Given the description of an element on the screen output the (x, y) to click on. 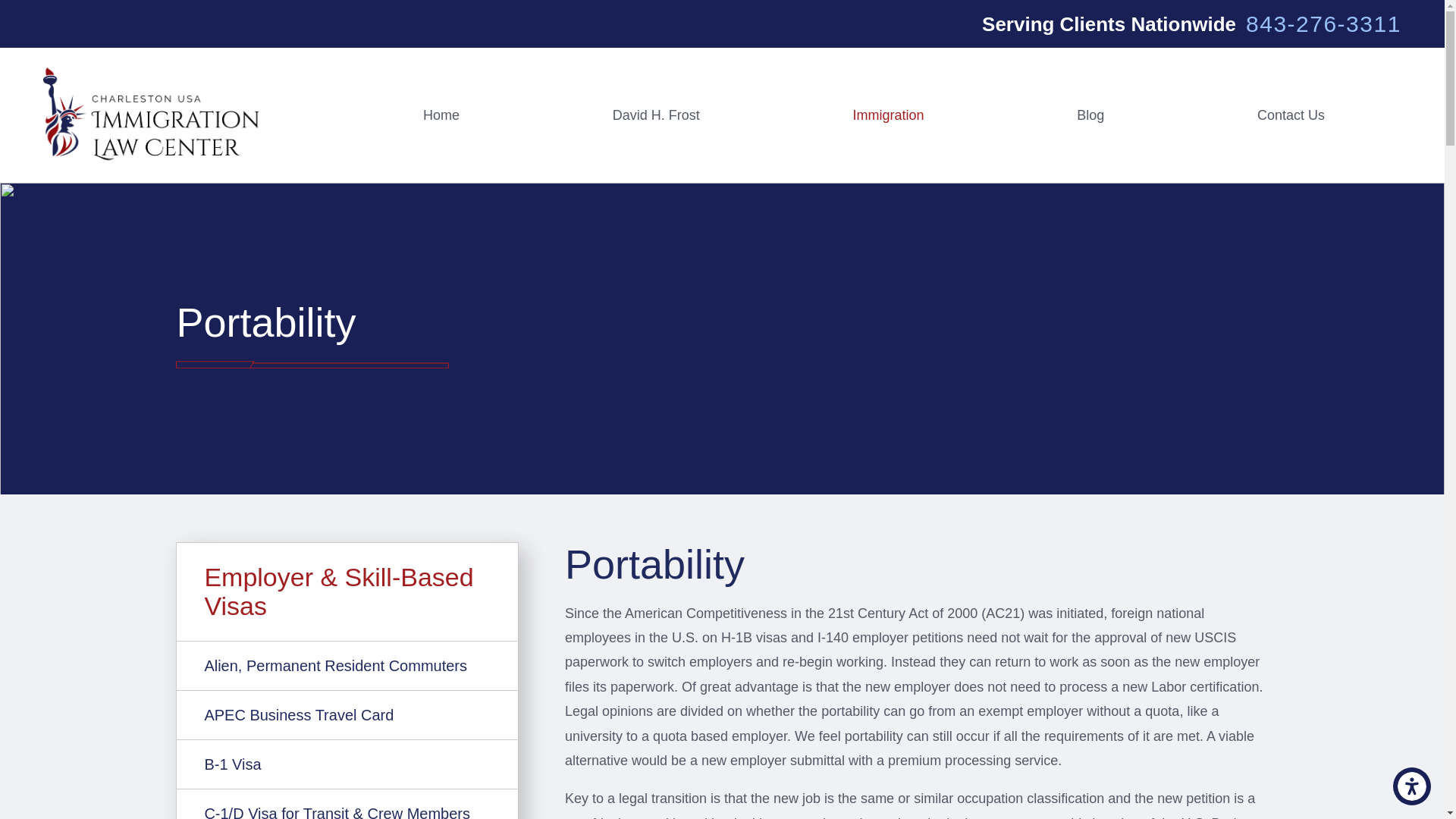
Blog (1090, 114)
Contact Us (1290, 114)
843-276-3311 (1323, 23)
David H. Frost (655, 114)
Open the accessibility options menu (1412, 786)
Charleston USA Immigration Law Center, LLP (151, 115)
Home (440, 114)
Immigration (888, 114)
